Given the description of an element on the screen output the (x, y) to click on. 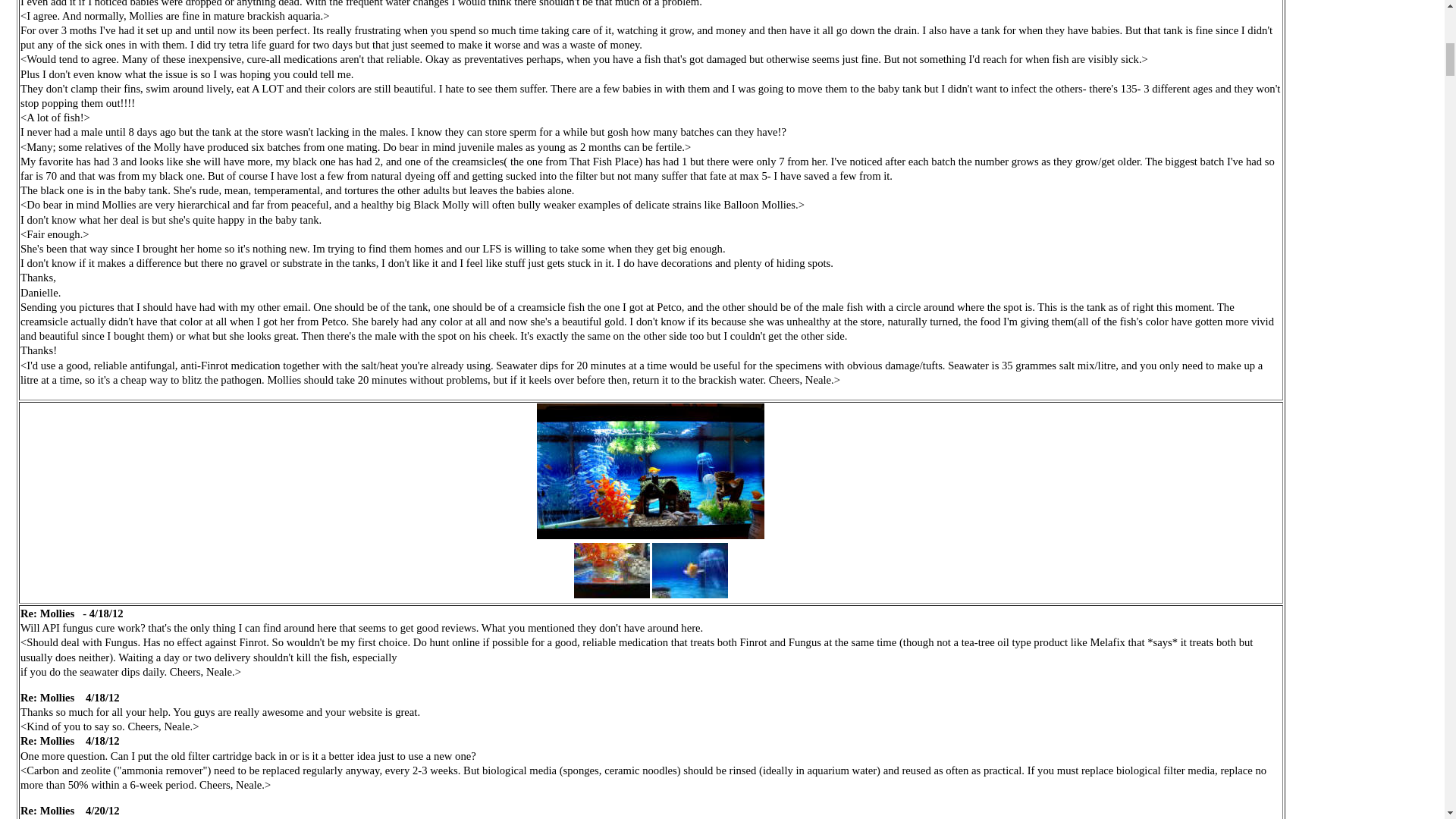
Advertisement (1361, 50)
